Given the description of an element on the screen output the (x, y) to click on. 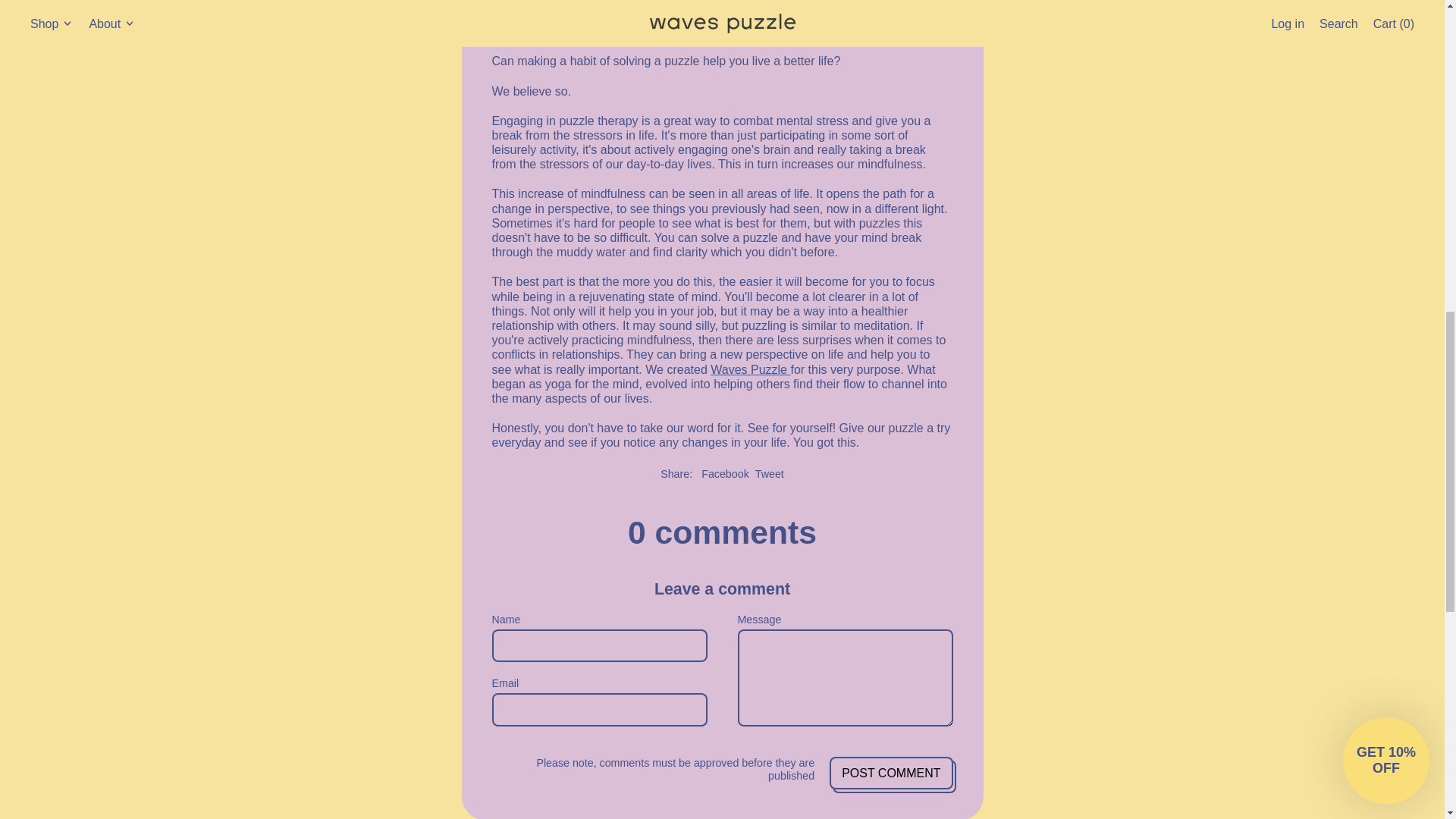
Post comment (890, 772)
Post comment (725, 473)
Waves Puzzle (890, 772)
Waves Puzzle (750, 369)
